Given the description of an element on the screen output the (x, y) to click on. 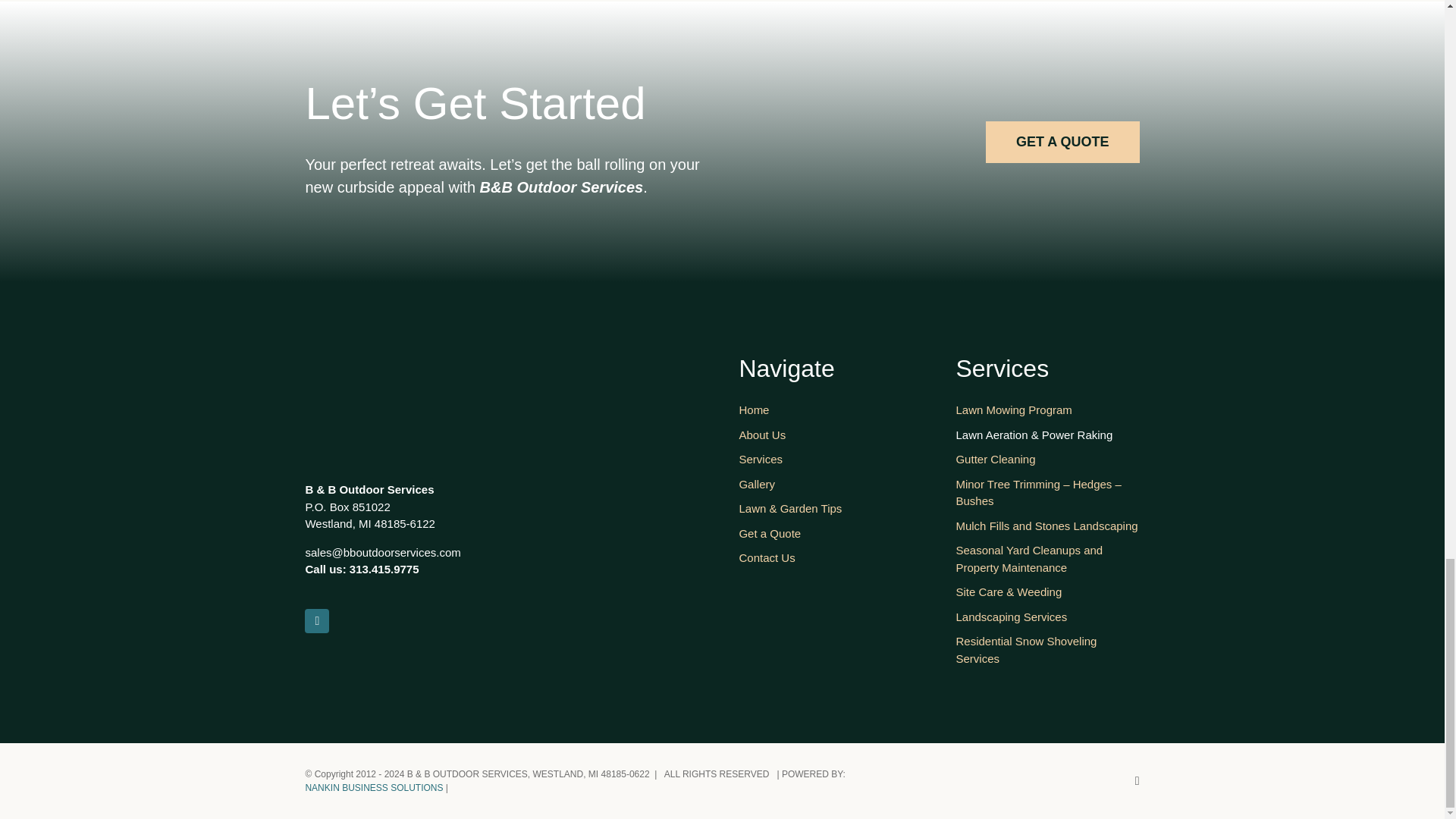
Get a Quote (829, 537)
Mulch Fills and Stones Landscaping (1046, 529)
GET A QUOTE (1062, 141)
Contact Us (829, 561)
Home (829, 414)
Lawn Mowing Program (1046, 414)
Gallery (829, 488)
Services (829, 463)
Gutter Cleaning (1046, 463)
Seasonal Yard Cleanups and Property Maintenance (1046, 562)
